Given the description of an element on the screen output the (x, y) to click on. 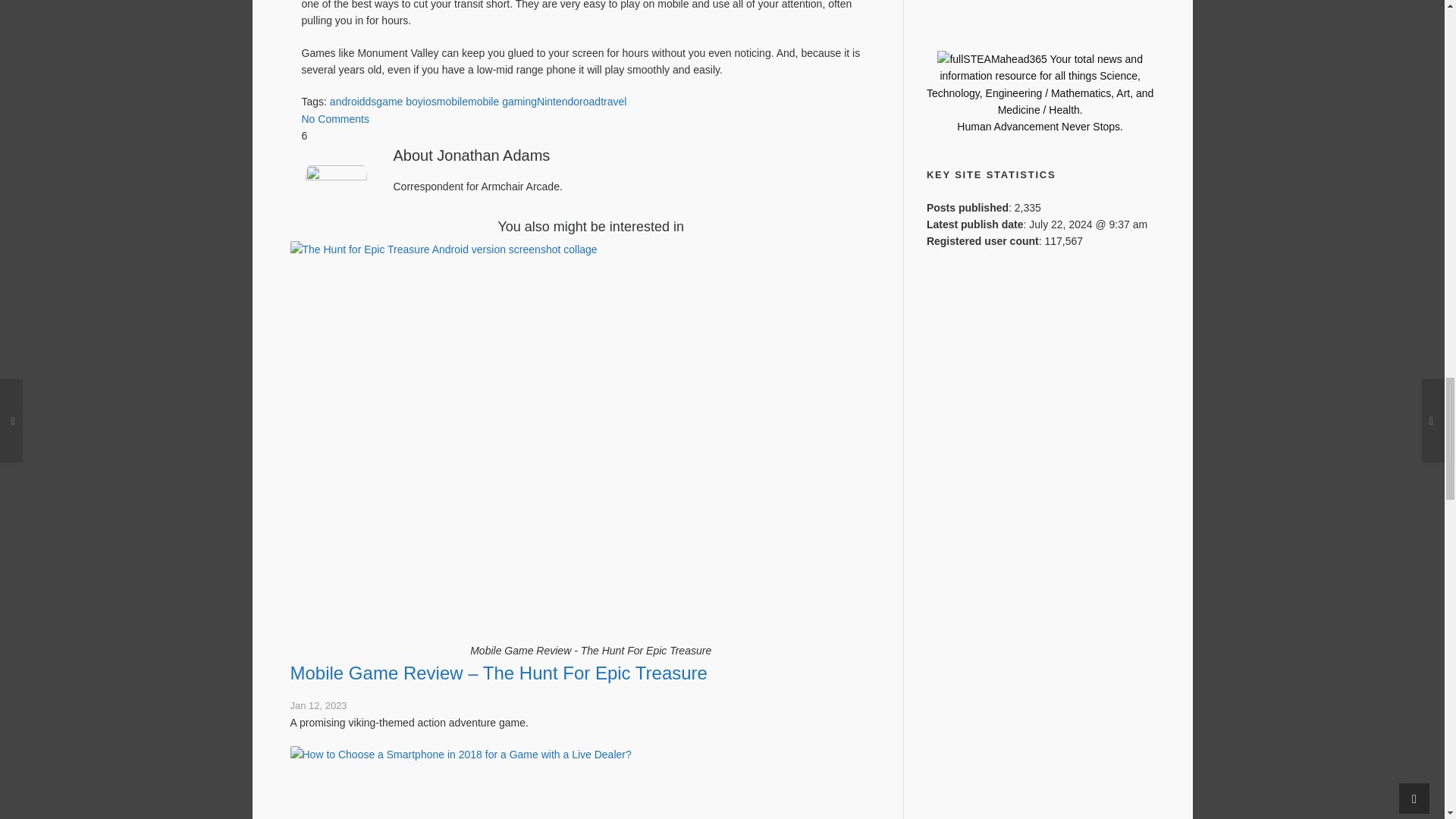
ds (371, 101)
ios (429, 101)
android (347, 101)
No Comments (335, 119)
game boy (398, 101)
